Given the description of an element on the screen output the (x, y) to click on. 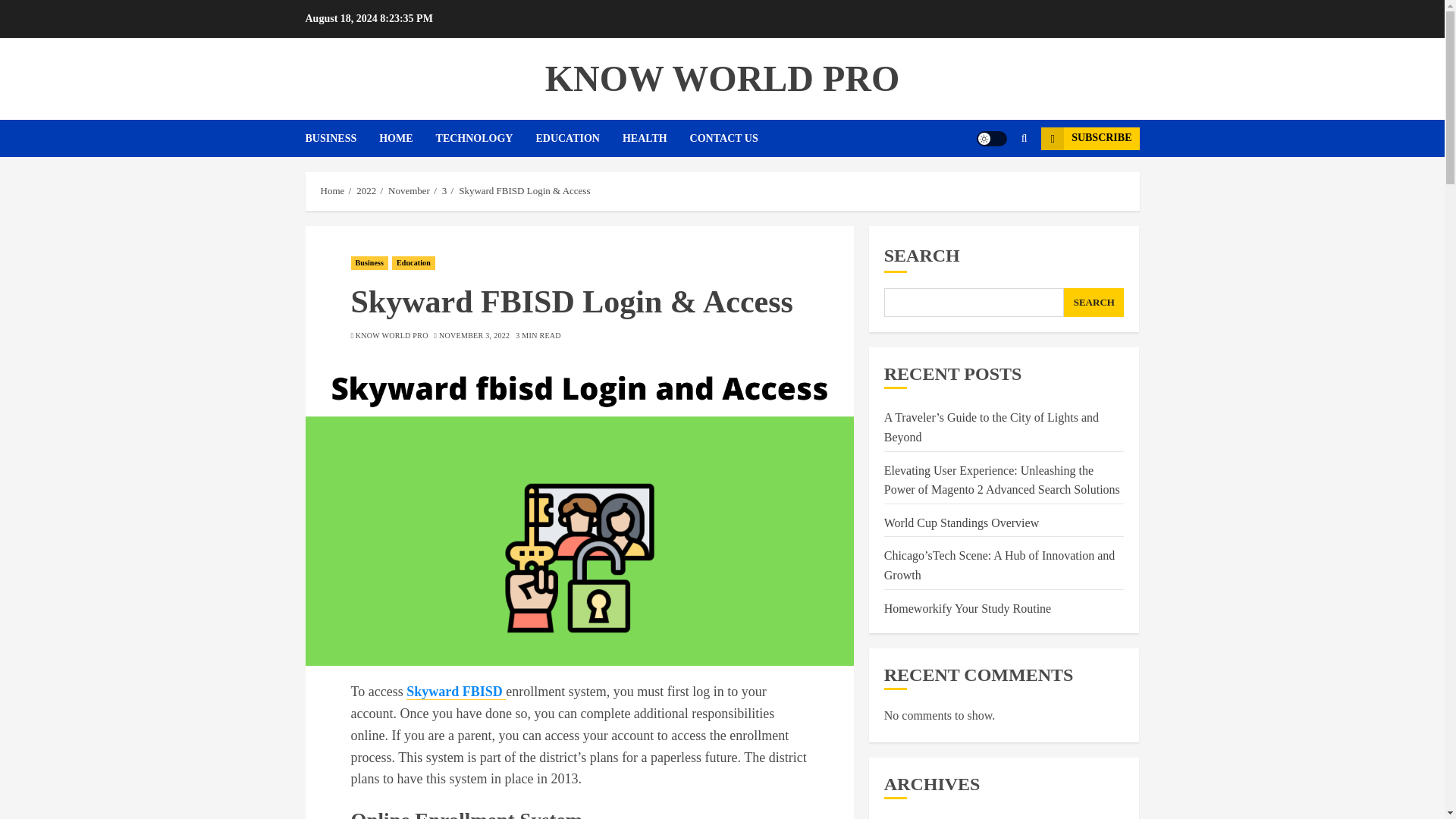
EDUCATION (579, 138)
CONTACT US (724, 138)
NOVEMBER 3, 2022 (474, 335)
TECHNOLOGY (485, 138)
KNOW WORLD PRO (391, 335)
November (408, 191)
HOME (406, 138)
BUSINESS (341, 138)
SUBSCRIBE (1089, 138)
